Given the description of an element on the screen output the (x, y) to click on. 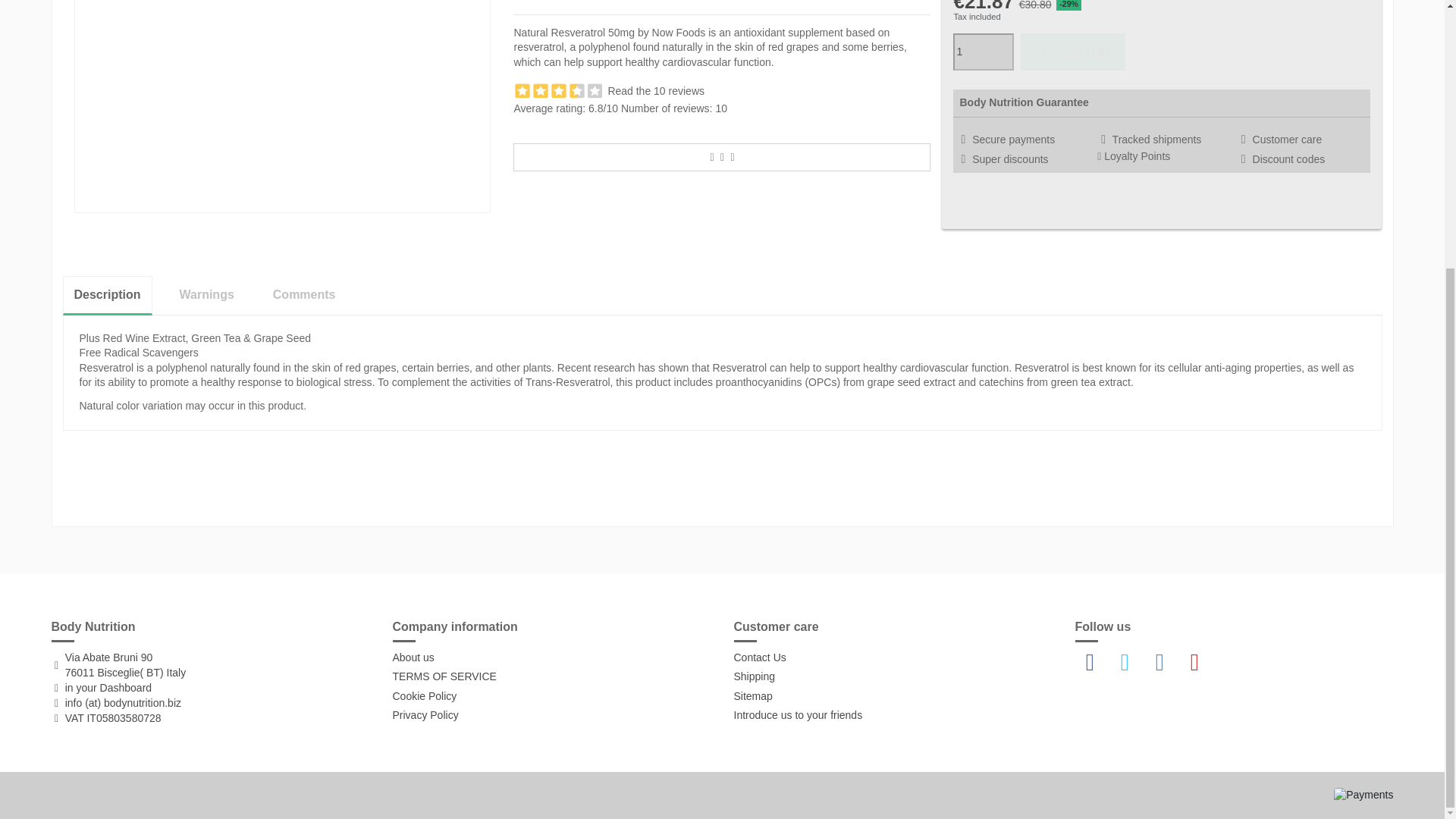
1 (983, 51)
